Given the description of an element on the screen output the (x, y) to click on. 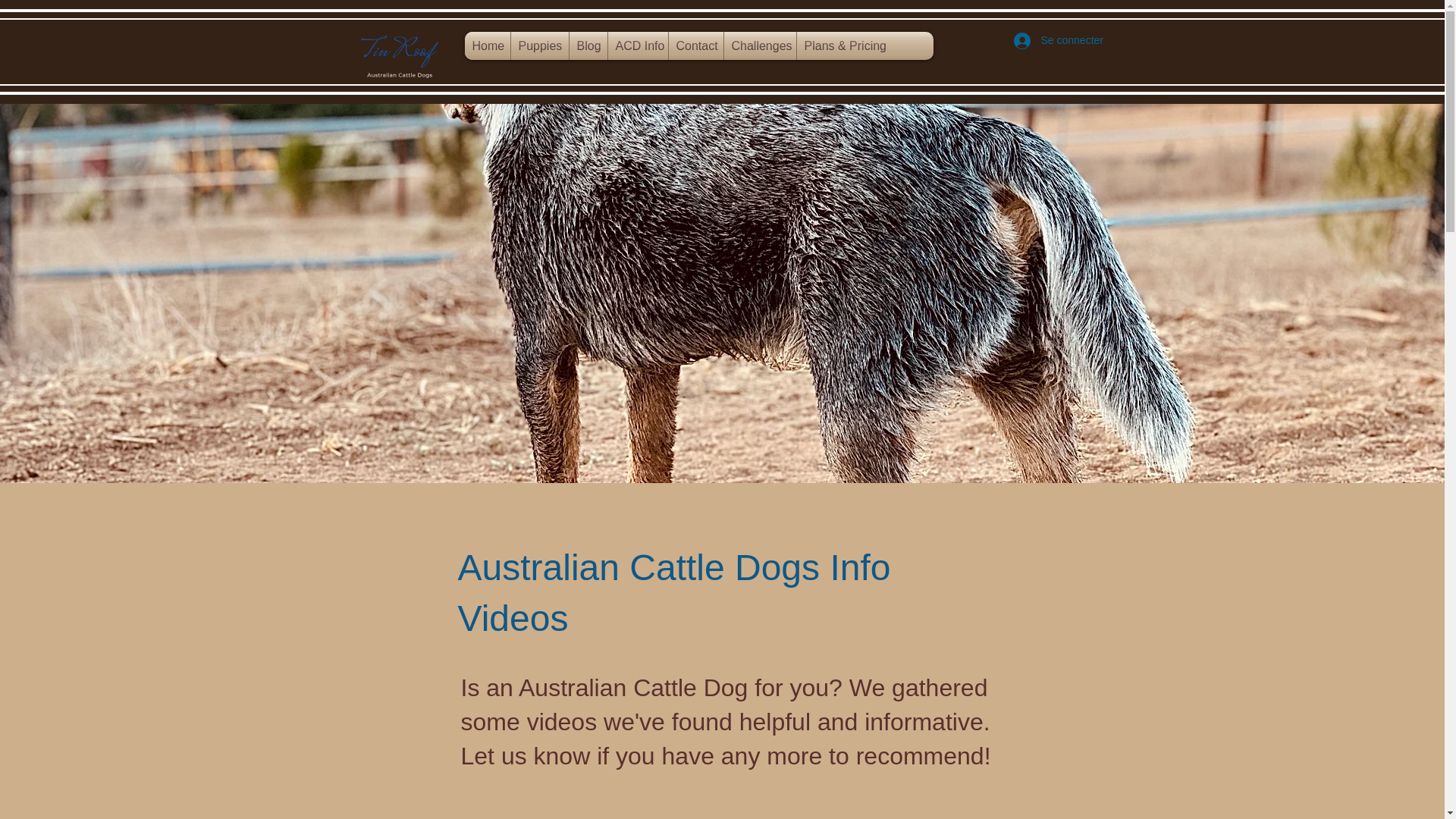
Challenges (758, 45)
Contact (695, 45)
Home (486, 45)
Blog (588, 45)
Se connecter (1048, 40)
